Given the description of an element on the screen output the (x, y) to click on. 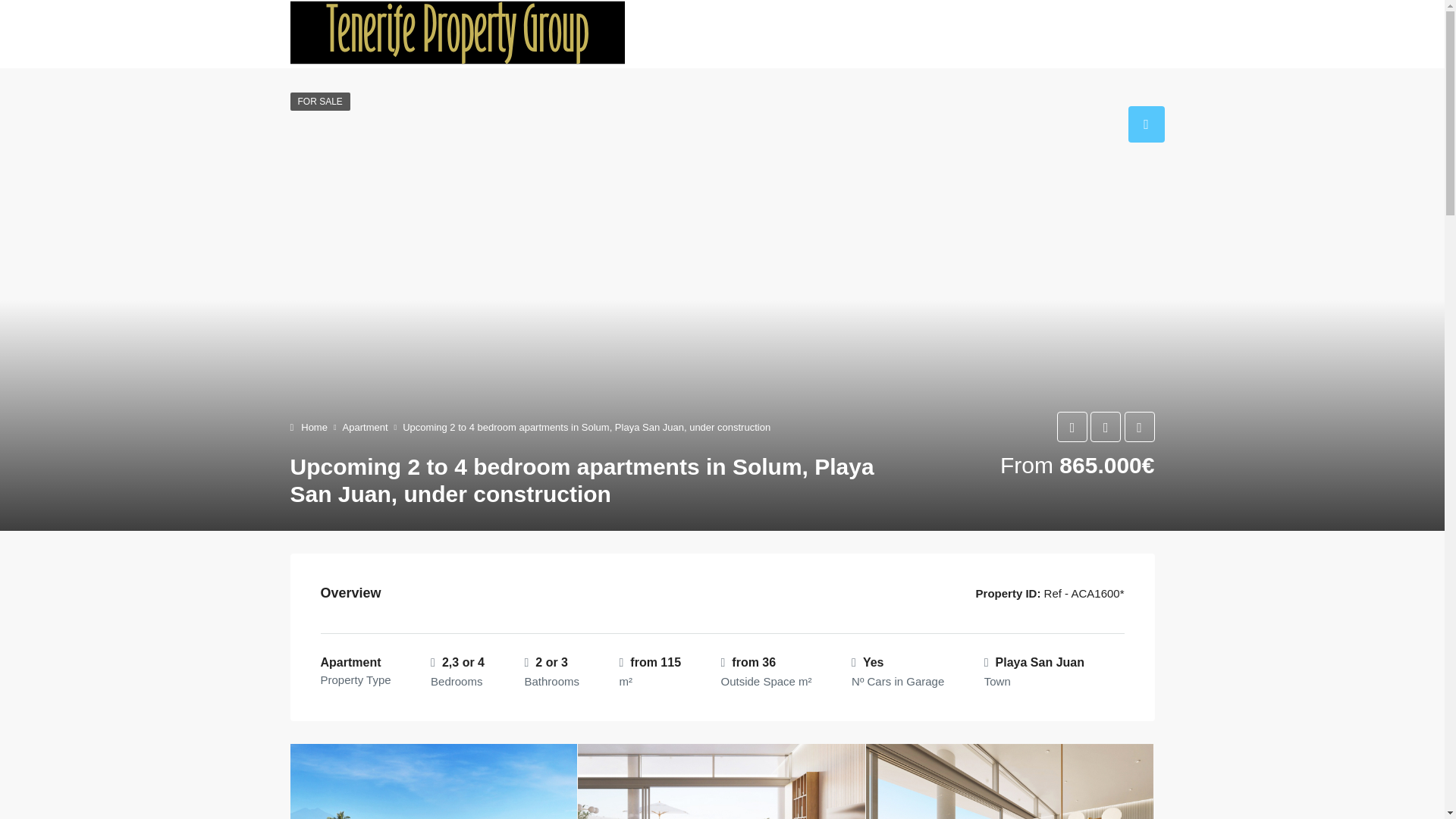
Free Guides (832, 33)
Buyers (913, 33)
Search (756, 33)
